Given the description of an element on the screen output the (x, y) to click on. 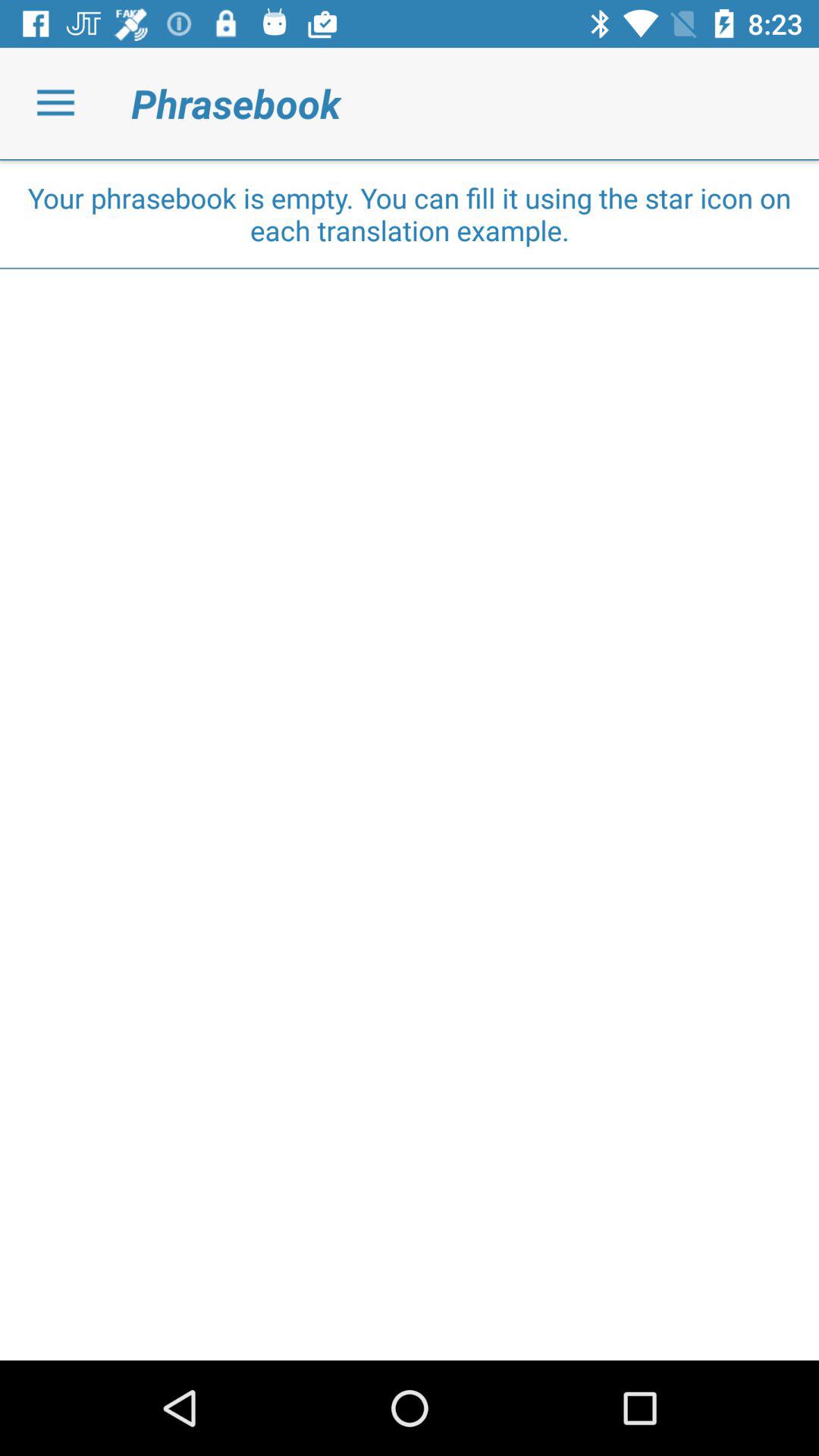
choose icon next to the phrasebook icon (55, 103)
